Given the description of an element on the screen output the (x, y) to click on. 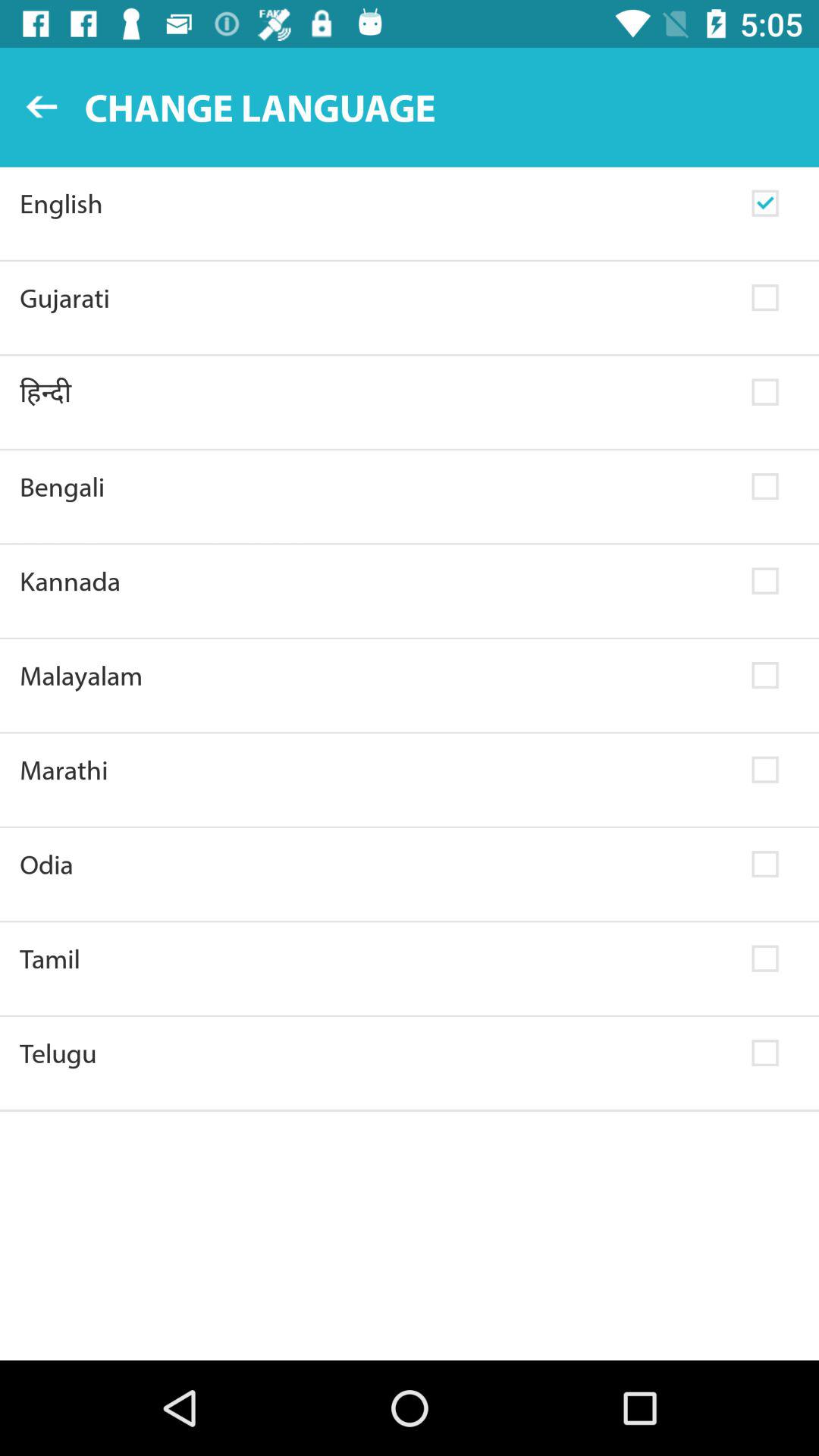
tap marathi (375, 769)
